Given the description of an element on the screen output the (x, y) to click on. 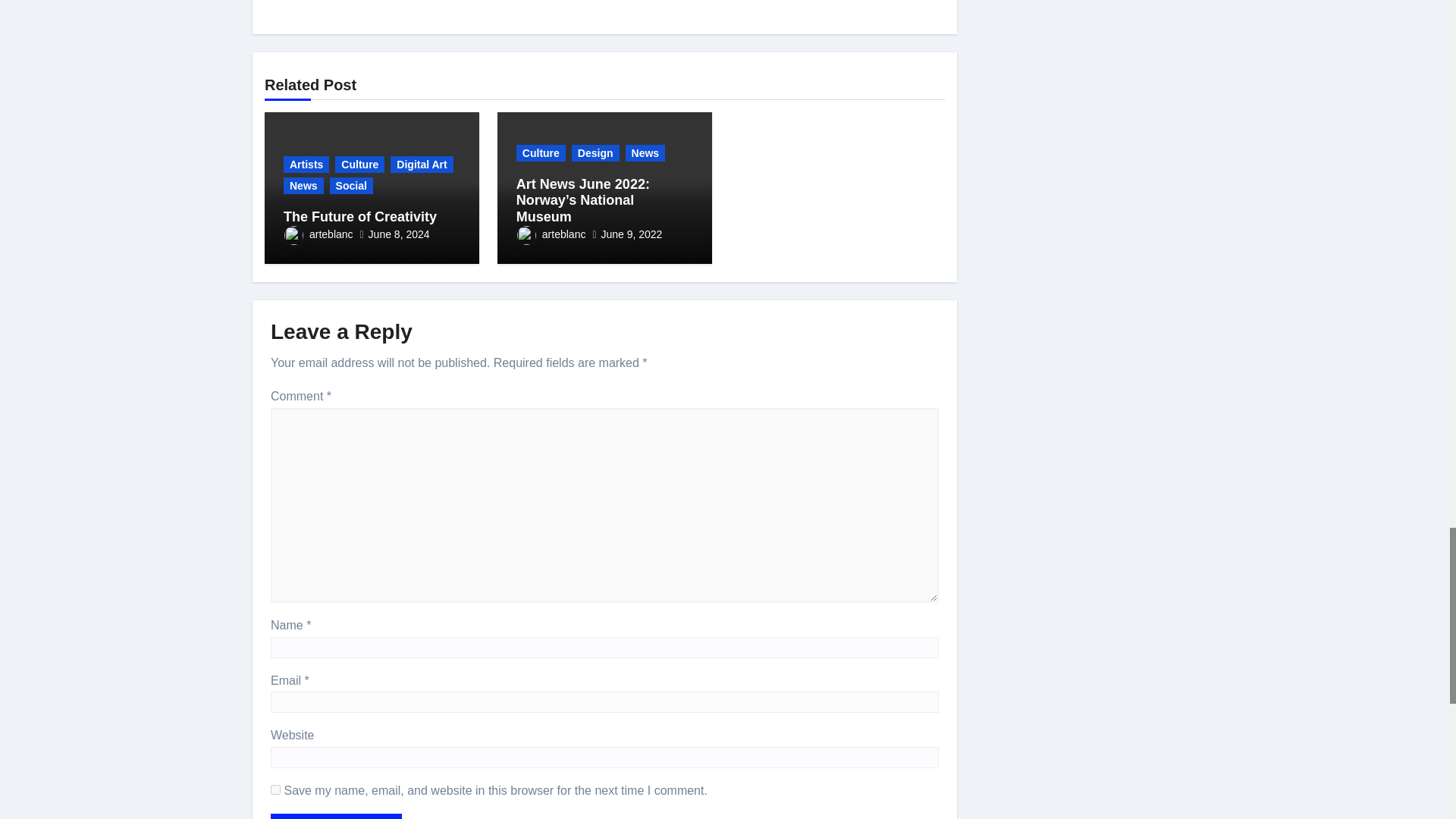
yes (275, 789)
Post Comment (335, 816)
Permalink to: The Future of Creativity (359, 216)
